Given the description of an element on the screen output the (x, y) to click on. 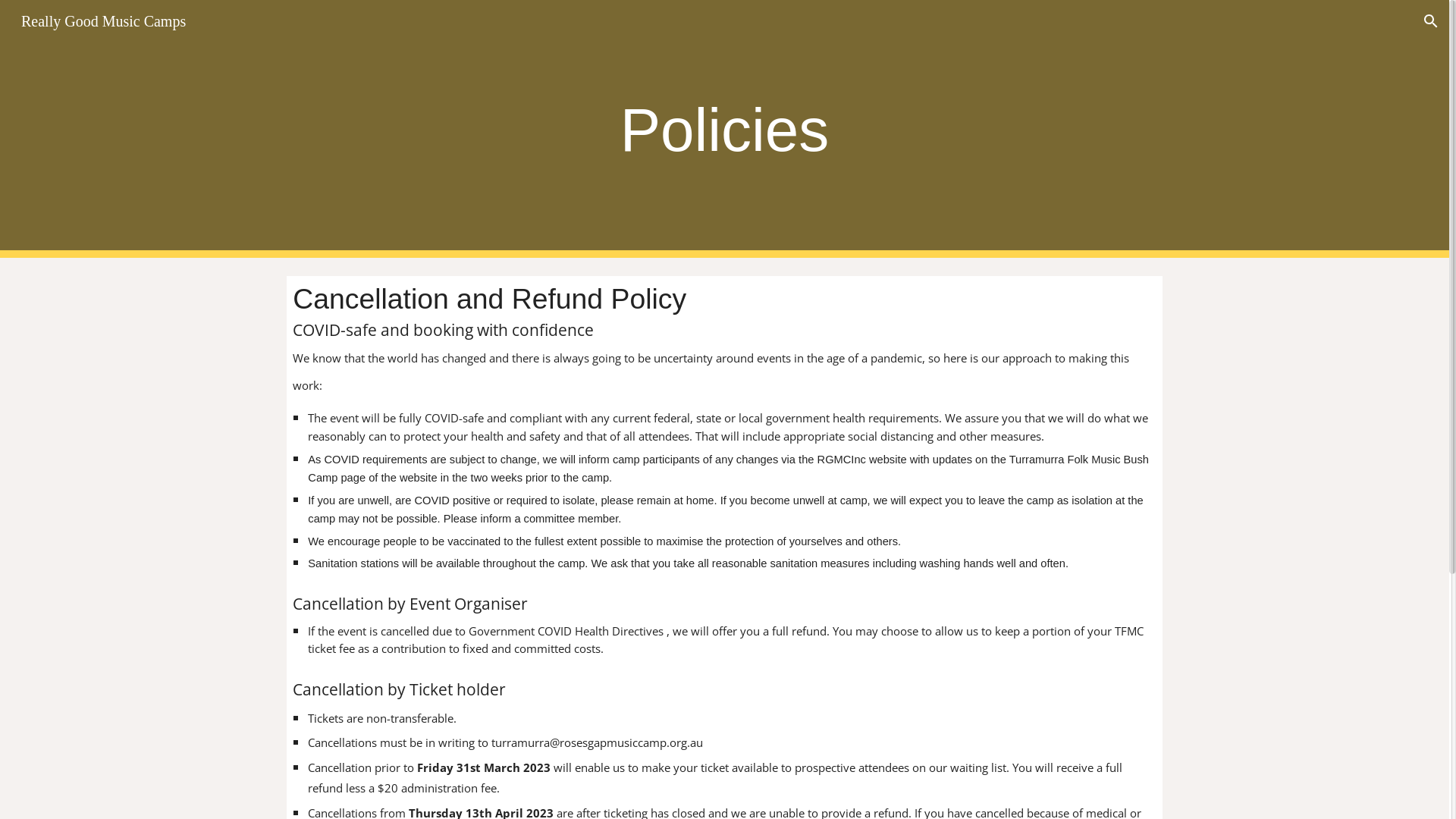
Really Good Music Camps Element type: text (103, 19)
